Given the description of an element on the screen output the (x, y) to click on. 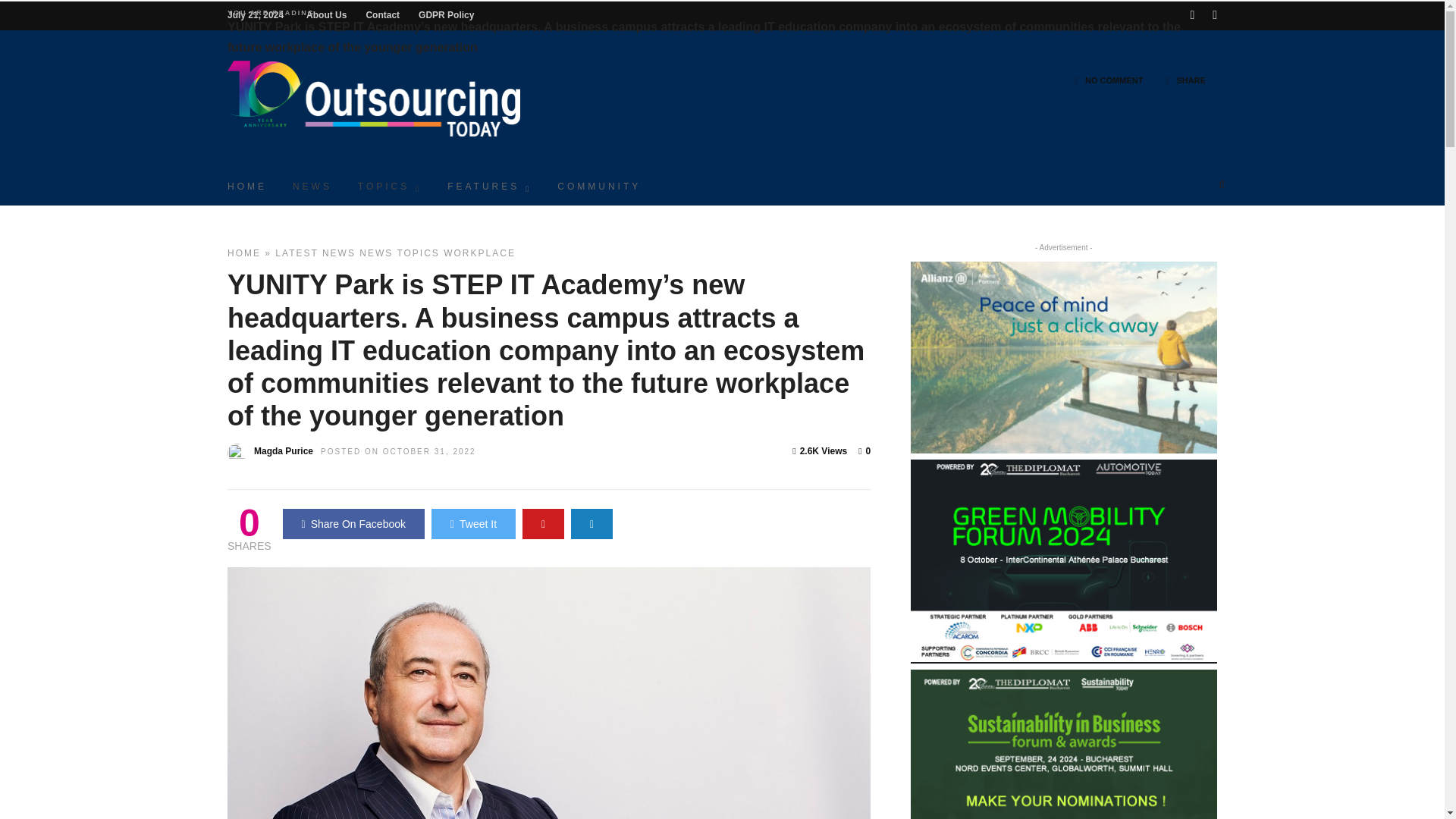
Share On Pinterest (543, 523)
GDPR Policy (446, 14)
NEWS (312, 185)
Contact (381, 14)
Share On Facebook (353, 523)
LATEST NEWS (315, 253)
About Us (325, 14)
HOME (243, 253)
Share On Twitter (472, 523)
Share by Email (591, 523)
COMMUNITY (599, 185)
FEATURES (489, 185)
TOPICS (389, 185)
HOME (246, 185)
